Given the description of an element on the screen output the (x, y) to click on. 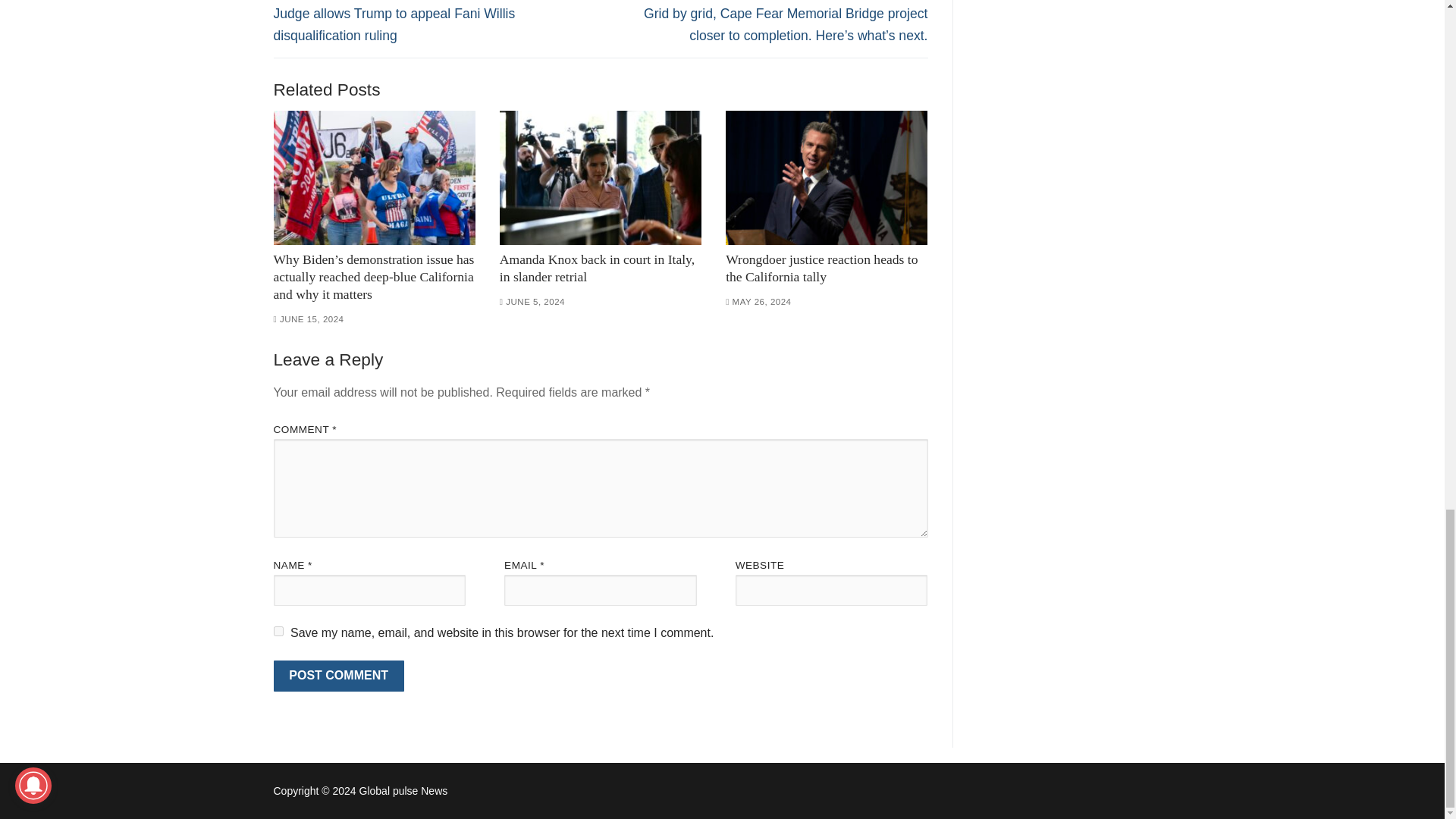
yes (277, 631)
Amanda Knox back in court in Italy, in slander retrial (596, 267)
JUNE 5, 2024 (531, 301)
Amanda Knox back in court in Italy, in slander retrial (600, 177)
JUNE 15, 2024 (308, 318)
Wrongdoer justice reaction heads to the California tally (826, 177)
Post Comment (338, 676)
Amanda Knox back in court in Italy, in slander retrial (596, 267)
Wrongdoer justice reaction heads to the California tally (821, 267)
